Given the description of an element on the screen output the (x, y) to click on. 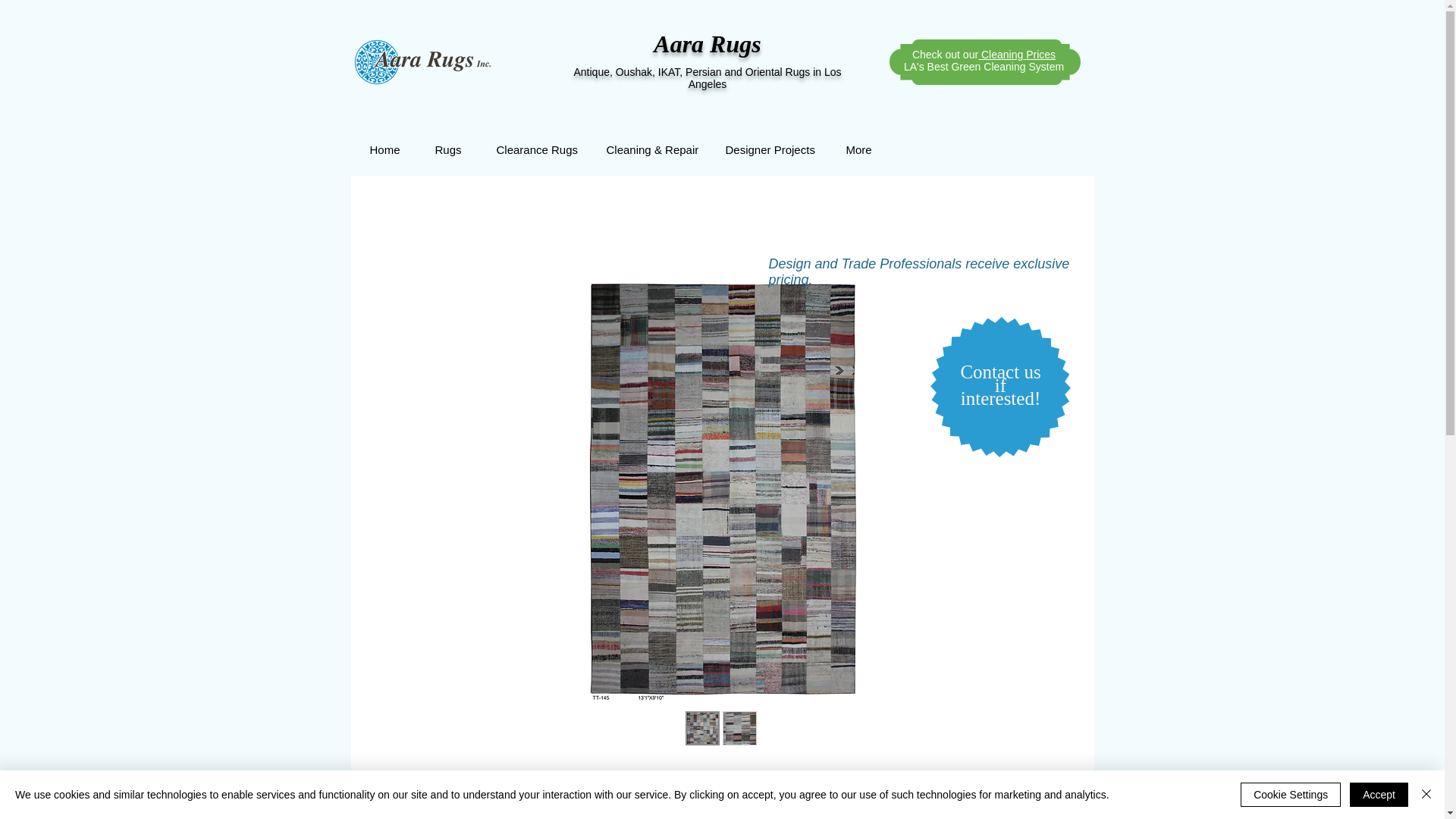
Designer Projects (766, 149)
Clearance Rugs (532, 149)
Contact us if interested! (1000, 384)
Rugs (445, 149)
Check out our Cleaning Prices (983, 54)
Home (382, 149)
